Given the description of an element on the screen output the (x, y) to click on. 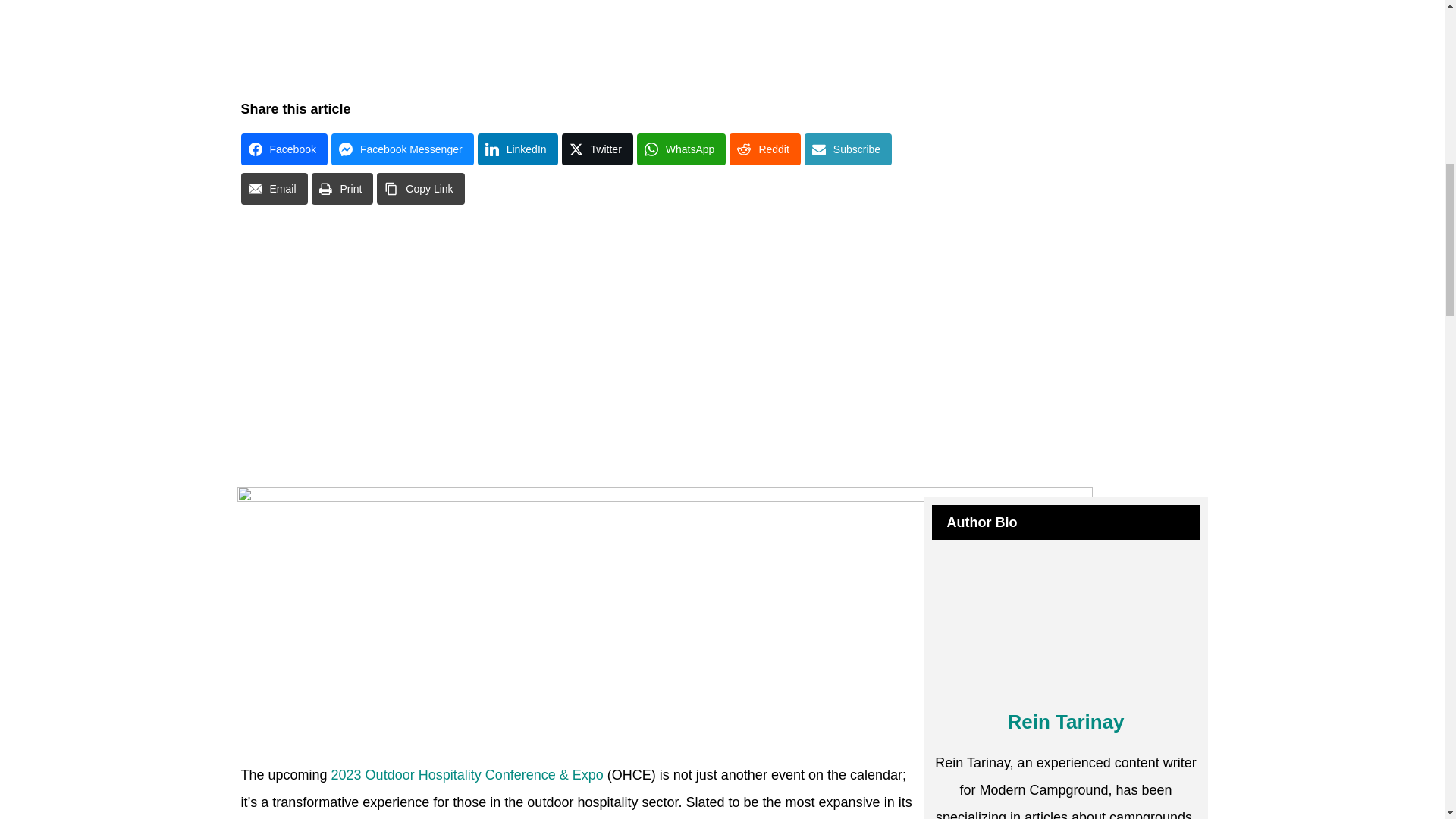
Share on LinkedIn (517, 149)
Share on Subscribe (848, 149)
Share on Print (342, 188)
Share on Copy Link (420, 188)
Share on Facebook Messenger (402, 149)
Share on Twitter (597, 149)
Share on Email (274, 188)
Share on WhatsApp (681, 149)
Share on Facebook (284, 149)
Share on Reddit (764, 149)
